Given the description of an element on the screen output the (x, y) to click on. 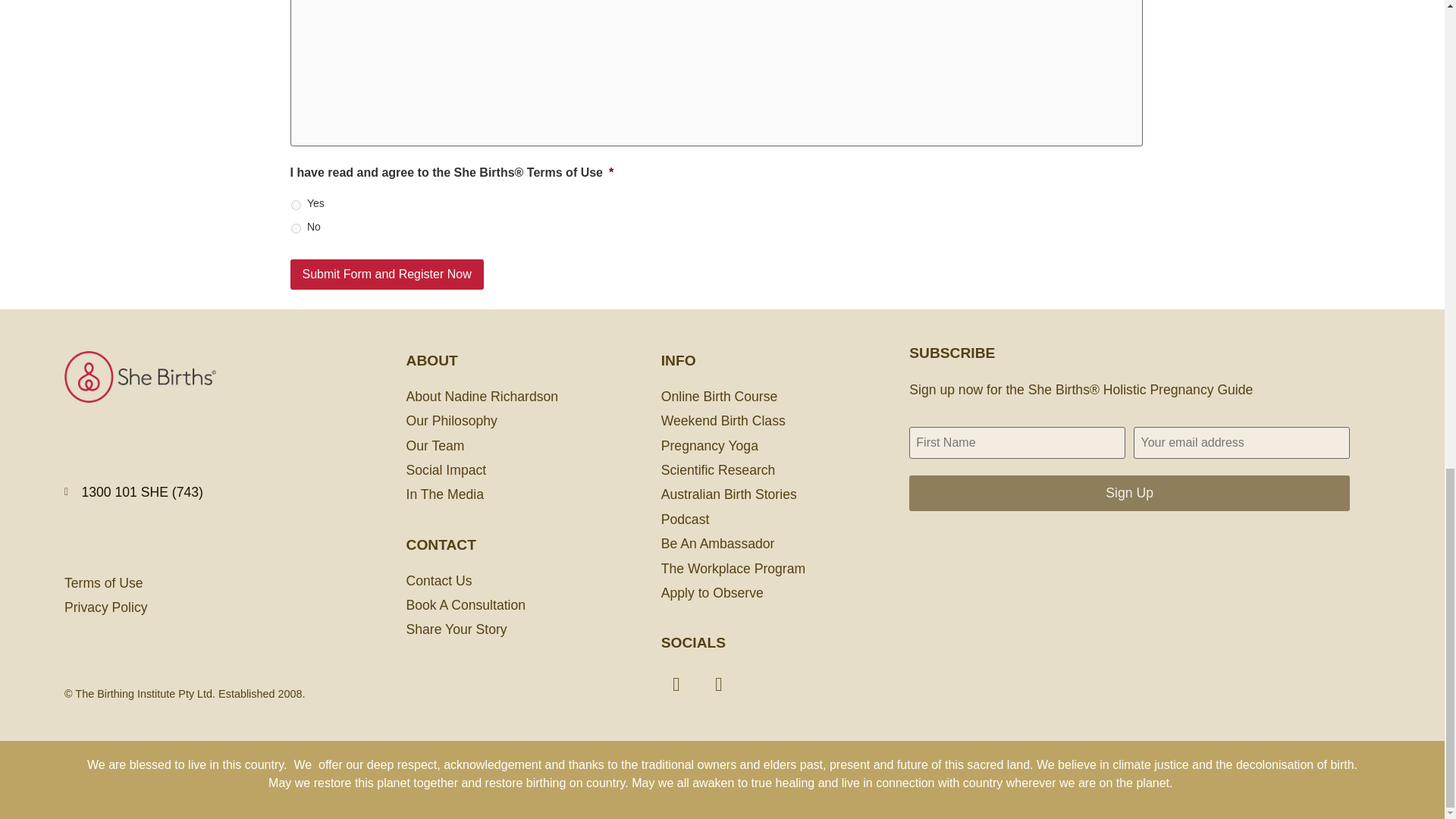
Sign Up (1128, 492)
Yes (296, 204)
Submit Form and Register Now (386, 274)
No (296, 228)
